Given the description of an element on the screen output the (x, y) to click on. 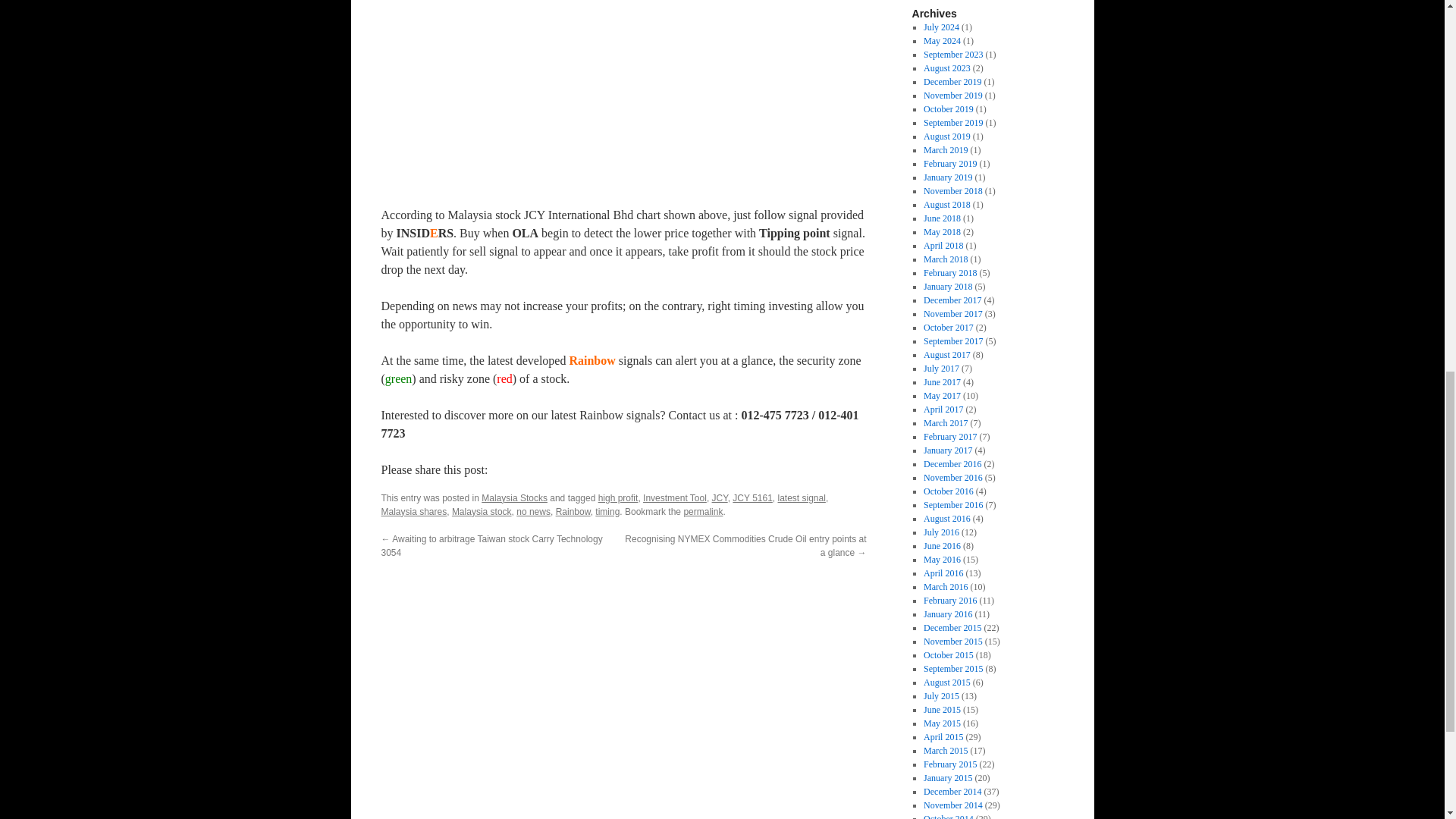
Rainbow (573, 511)
Malaysia stock (481, 511)
timing (607, 511)
permalink (702, 511)
high profit (618, 498)
Malaysia shares (413, 511)
Malaysia Stocks (514, 498)
JCY (719, 498)
no news (533, 511)
